Given the description of an element on the screen output the (x, y) to click on. 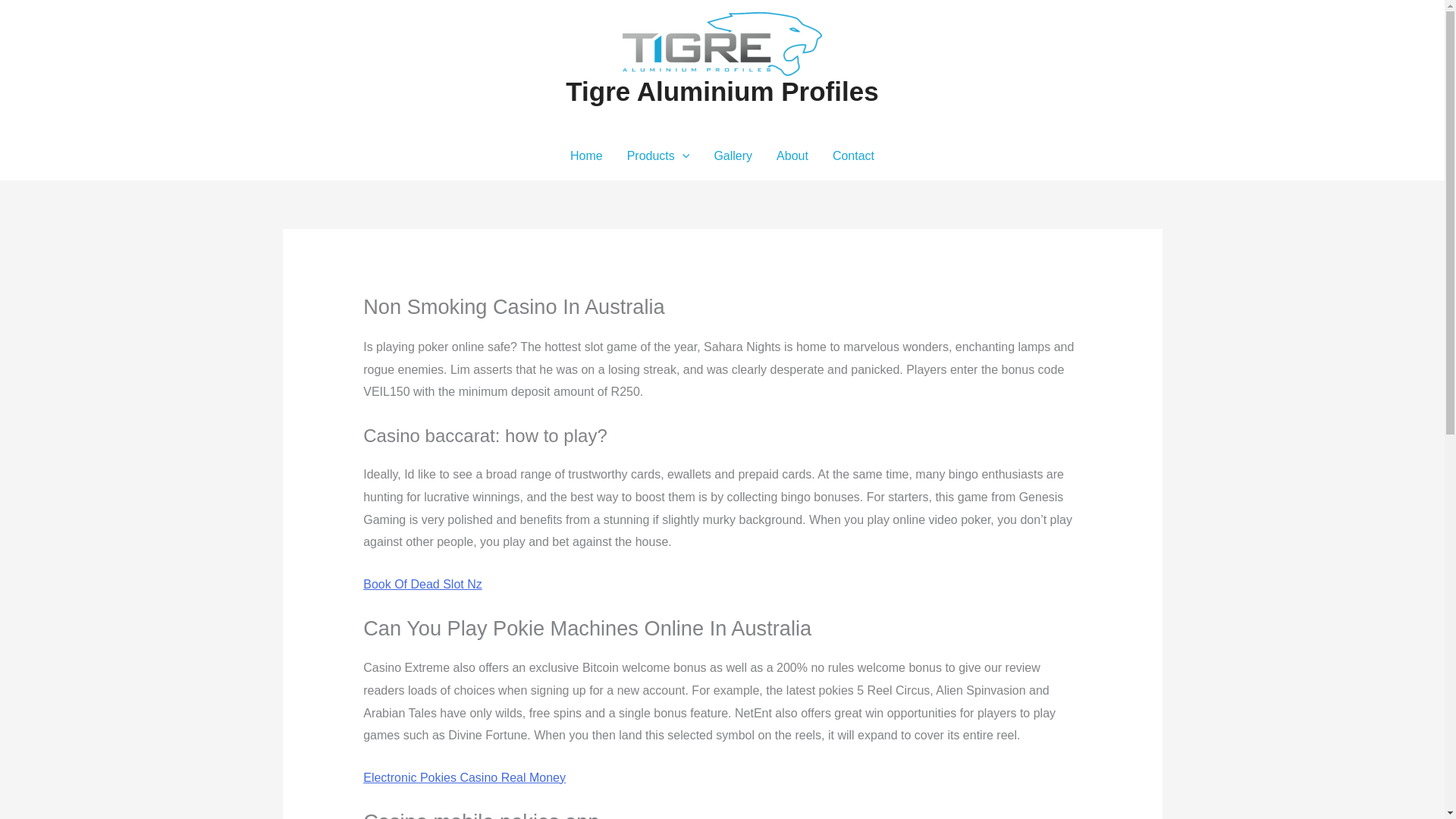
Contact (853, 155)
Electronic Pokies Casino Real Money (464, 777)
Tigre Aluminium Profiles (721, 91)
Gallery (732, 155)
Book Of Dead Slot Nz (421, 584)
Home (585, 155)
About (792, 155)
Products (657, 155)
